Given the description of an element on the screen output the (x, y) to click on. 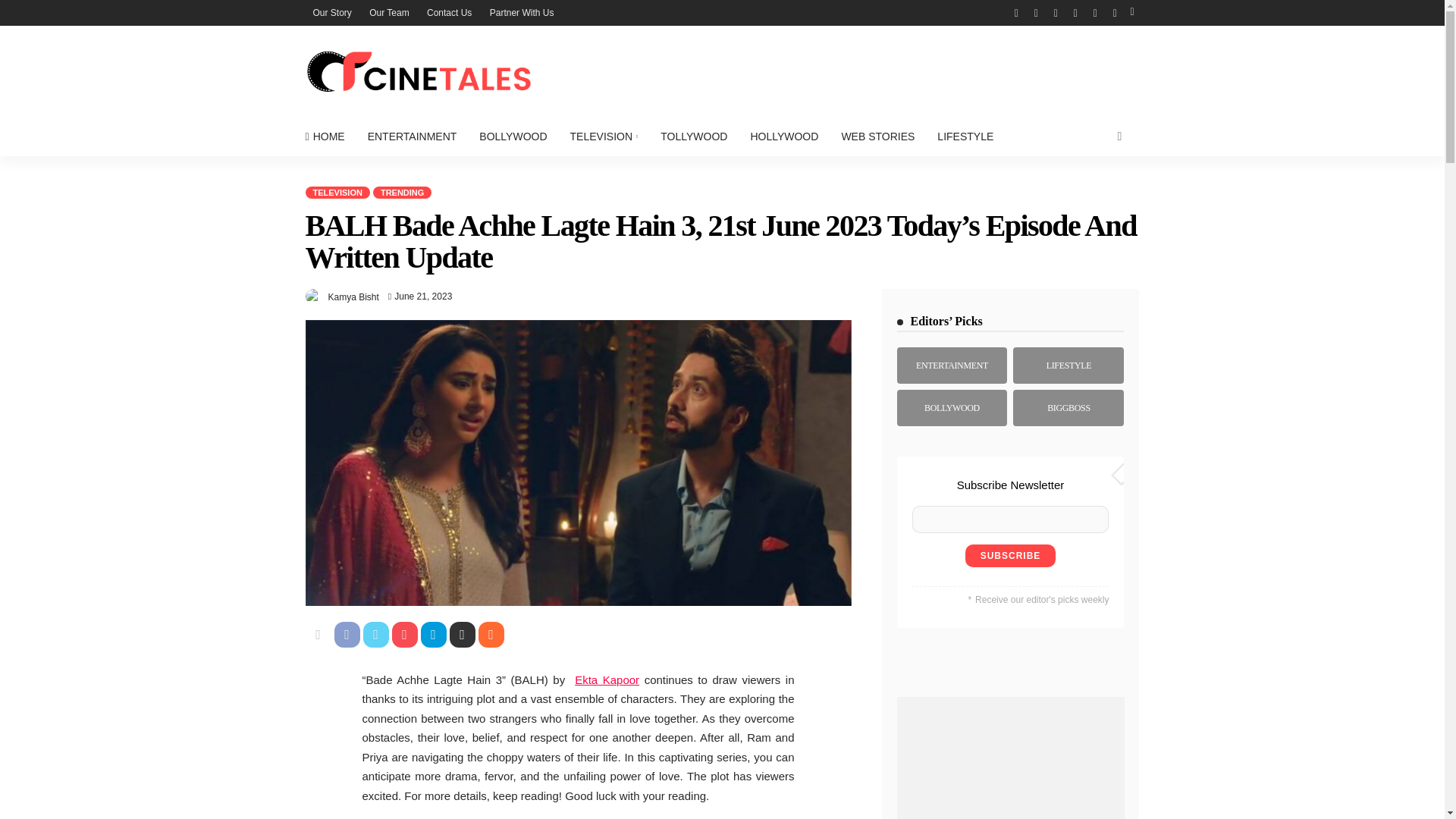
HOME (329, 136)
Our Team (388, 12)
WEB STORIES (877, 136)
Subscribe (1011, 555)
Our Story (331, 12)
TOLLYWOOD (693, 136)
ENTERTAINMENT (412, 136)
BOLLYWOOD (512, 136)
HOLLYWOOD (783, 136)
Contact Us (449, 12)
